Given the description of an element on the screen output the (x, y) to click on. 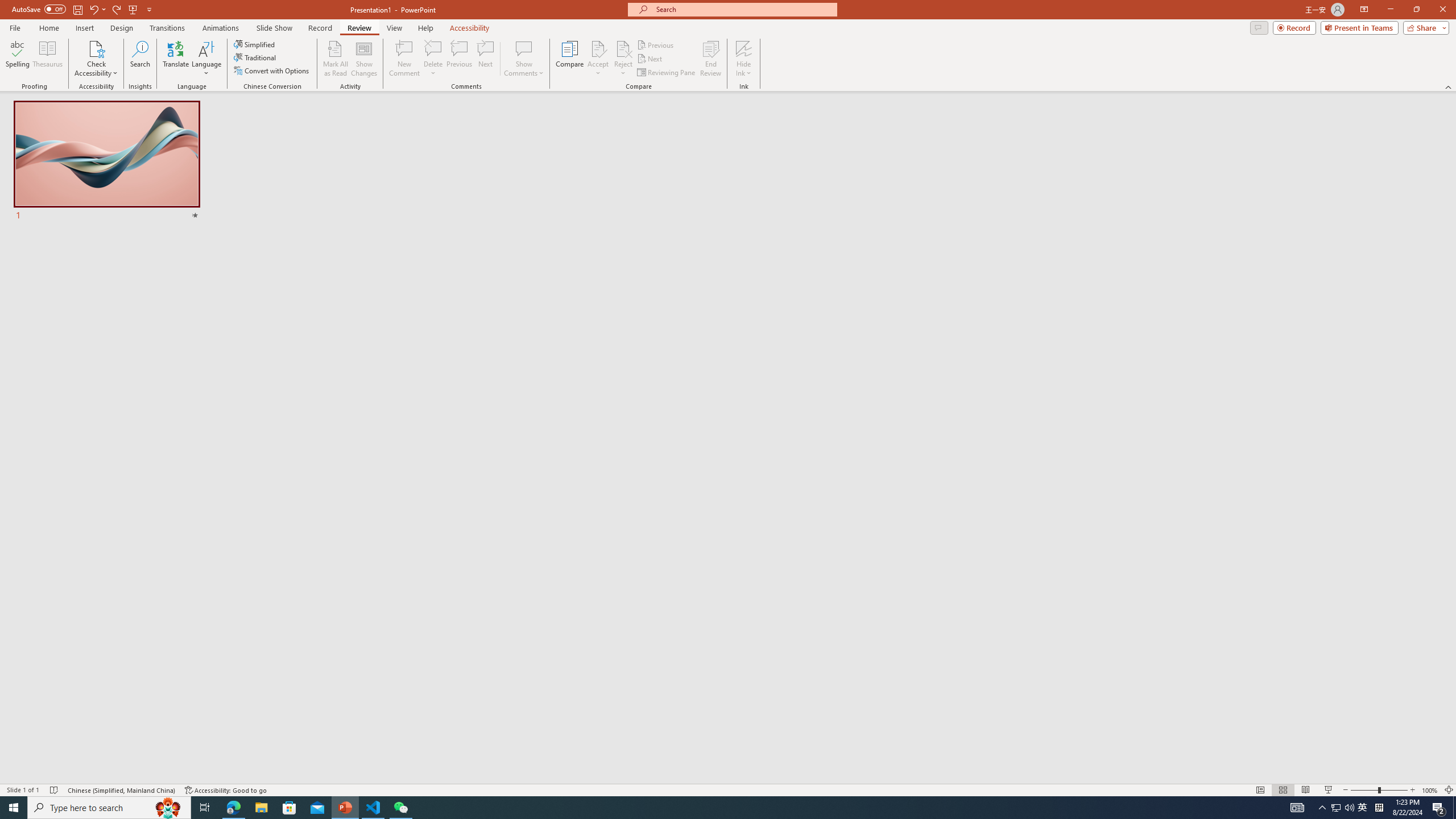
Traditional (255, 56)
